Given the description of an element on the screen output the (x, y) to click on. 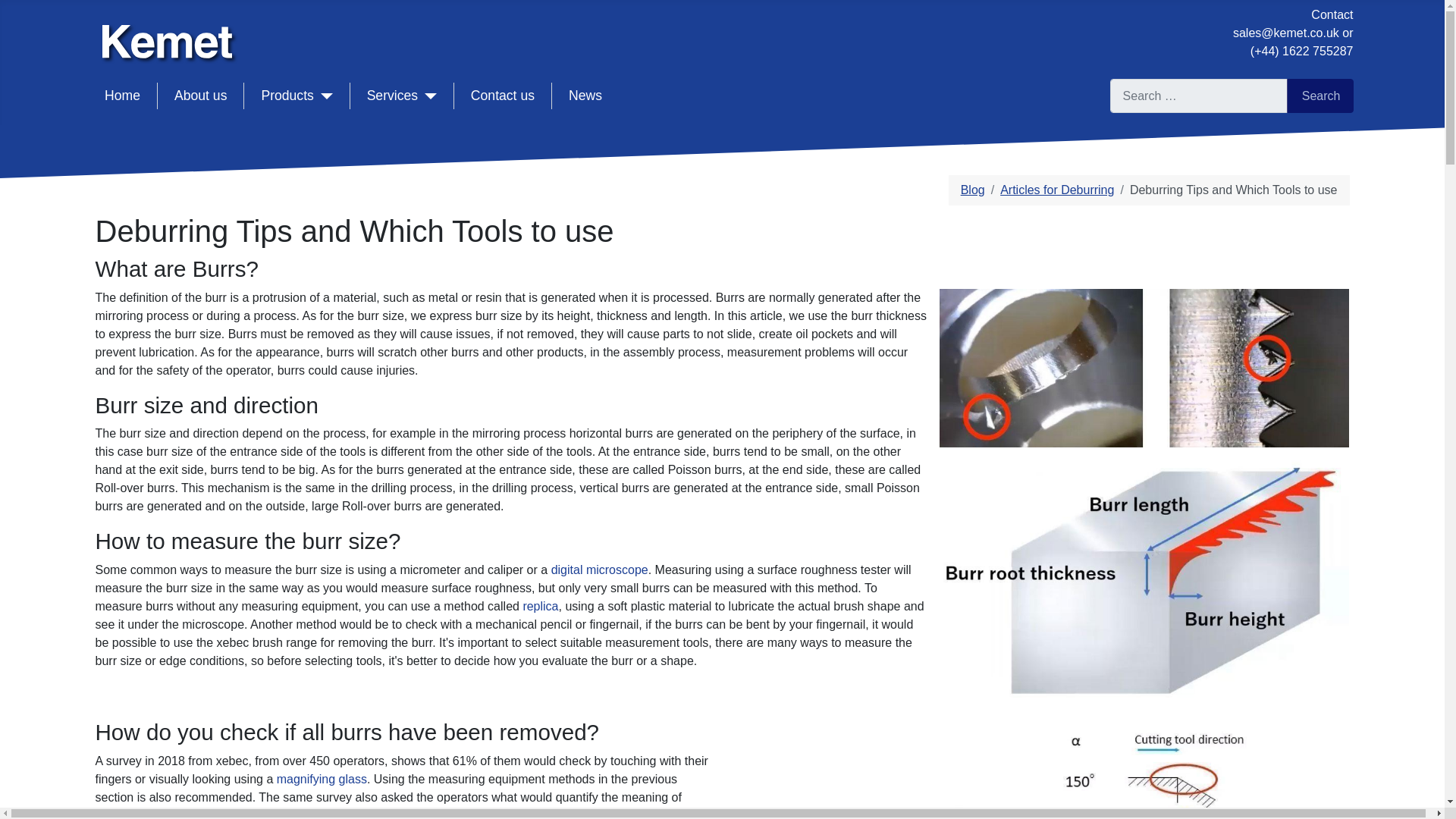
Home (121, 95)
Contact us (502, 95)
Contact (1331, 14)
Search (1320, 95)
News (585, 95)
Services (401, 95)
About us (200, 95)
Products (295, 95)
